Given the description of an element on the screen output the (x, y) to click on. 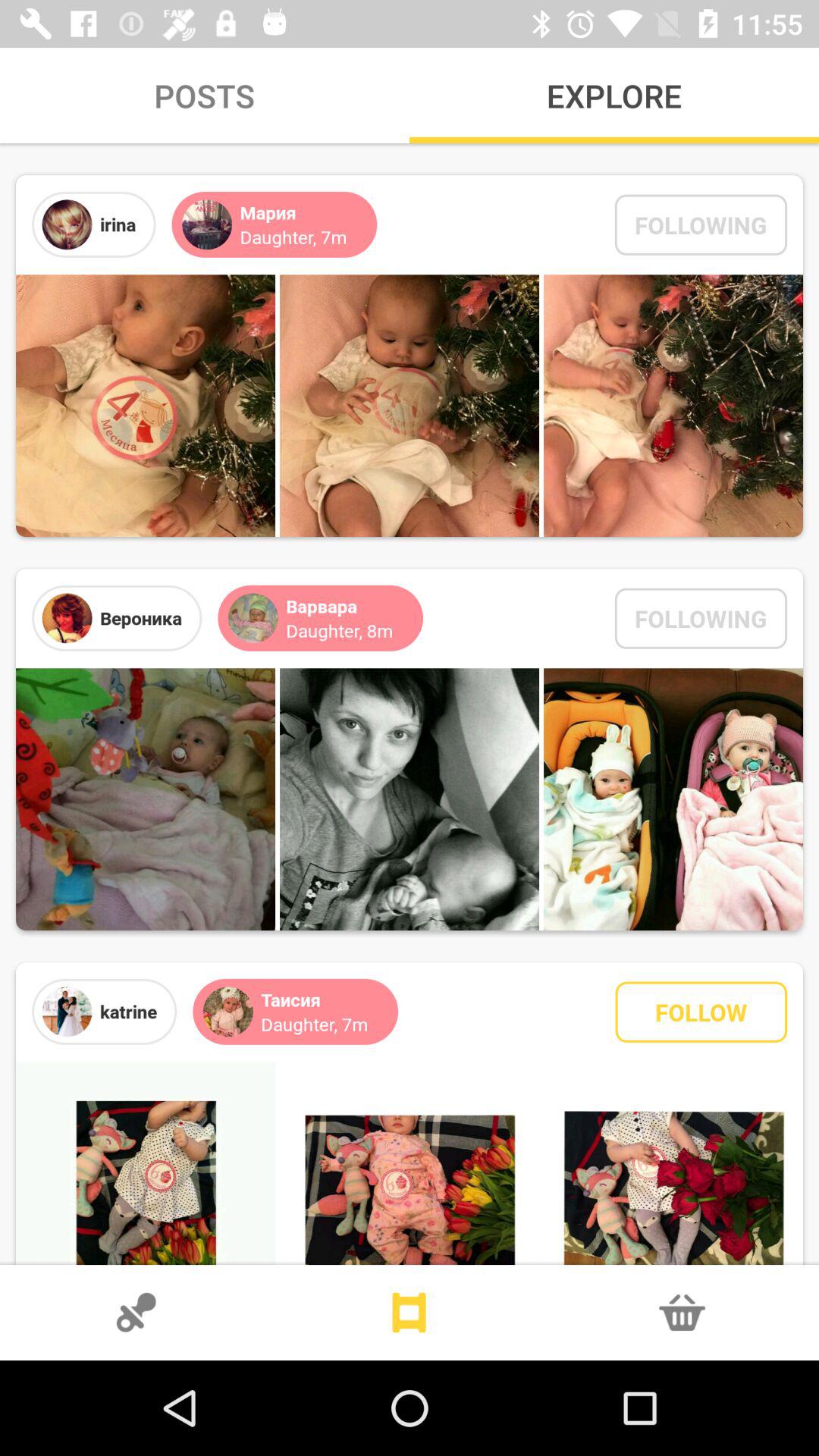
go home (409, 1312)
